Given the description of an element on the screen output the (x, y) to click on. 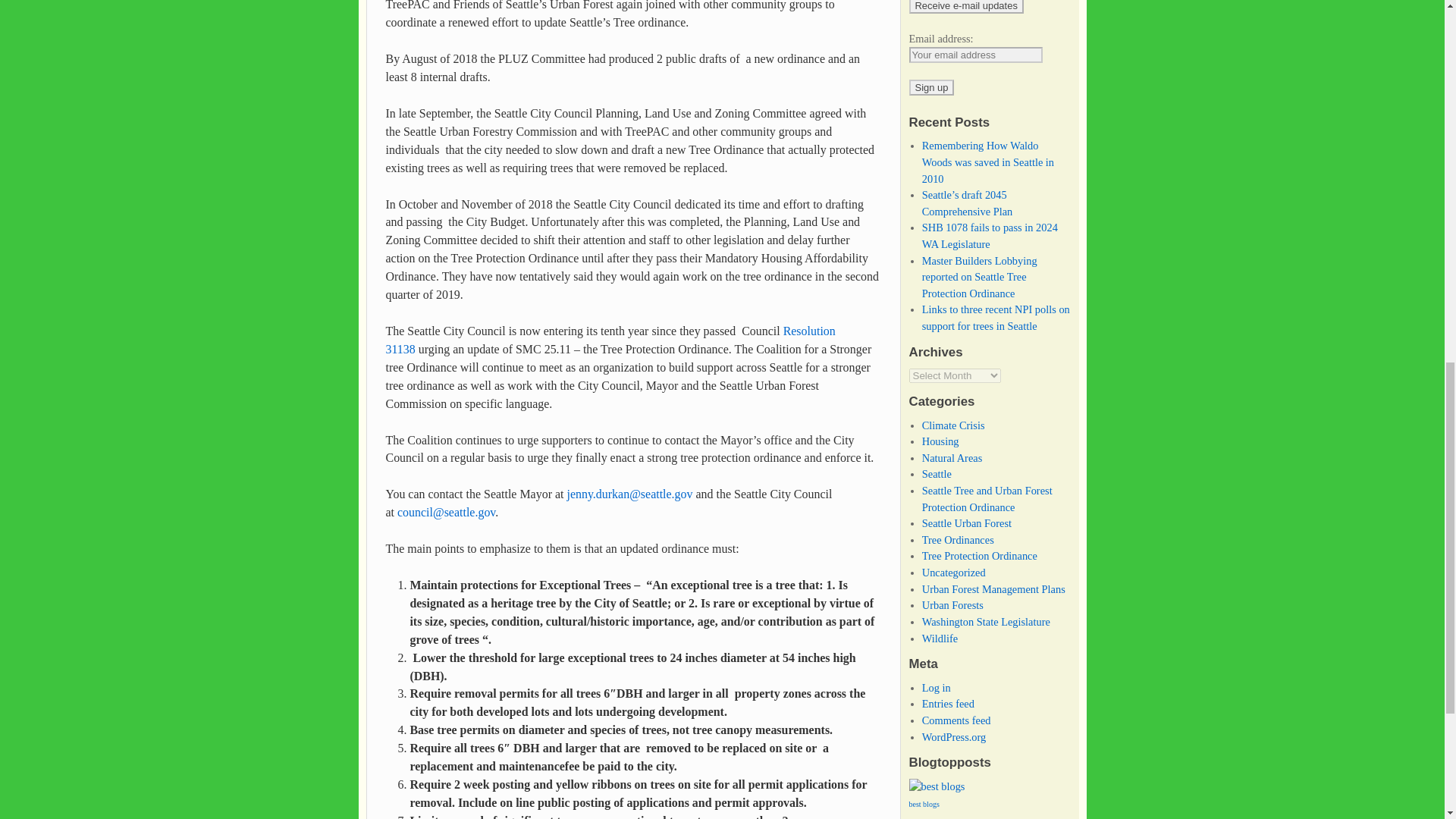
Receive e-mail updates (965, 6)
Sign up (930, 87)
Resolution 31138 (609, 339)
